Given the description of an element on the screen output the (x, y) to click on. 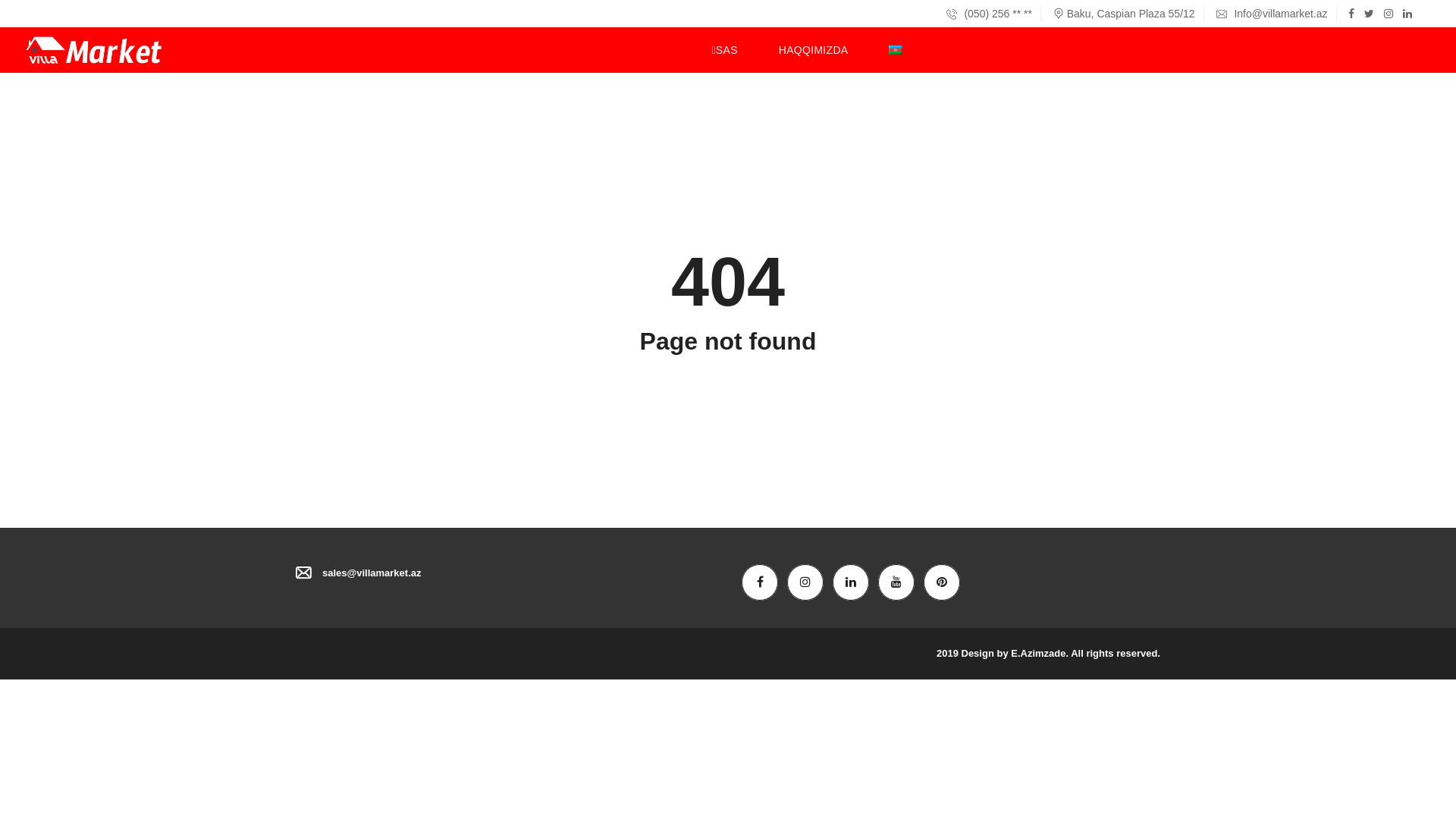
HAQQIMIZDA Element type: text (813, 49)
Villa market Element type: hover (95, 49)
(050) 256 ** ** Element type: text (989, 13)
Info@villamarket.az Element type: text (1271, 13)
sales@villamarket.az Element type: text (371, 572)
